Given the description of an element on the screen output the (x, y) to click on. 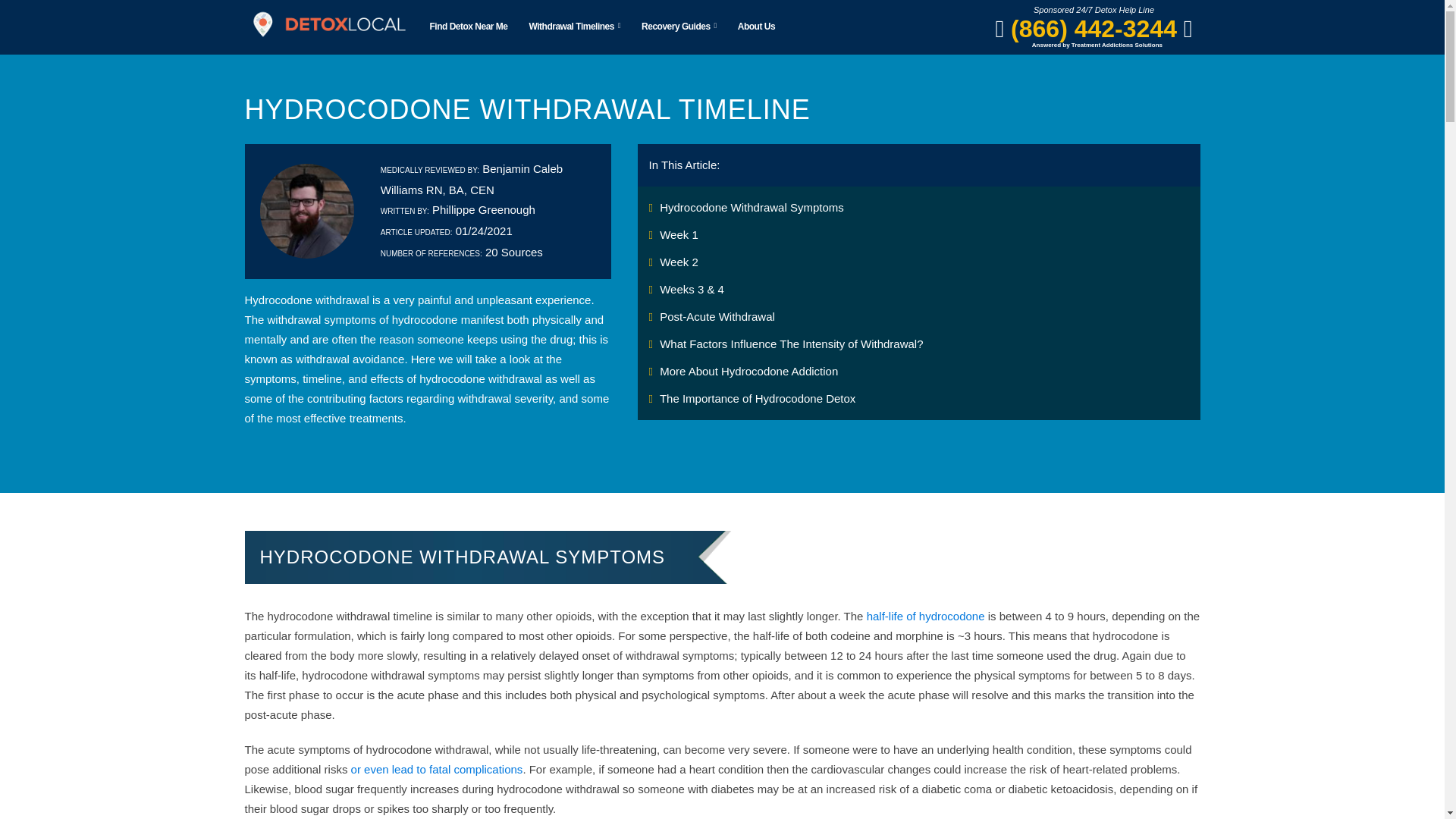
About Us (756, 26)
Opiate Withdrawal (453, 24)
Detox Local (327, 23)
Sources (512, 251)
Answered by Treatment Addictions Solutions (1096, 42)
Recovery Guides (678, 26)
Home (259, 24)
Find Detox Near Me (468, 26)
Withdrawal Timelines (574, 26)
Withdrawal Timelines (340, 24)
